Given the description of an element on the screen output the (x, y) to click on. 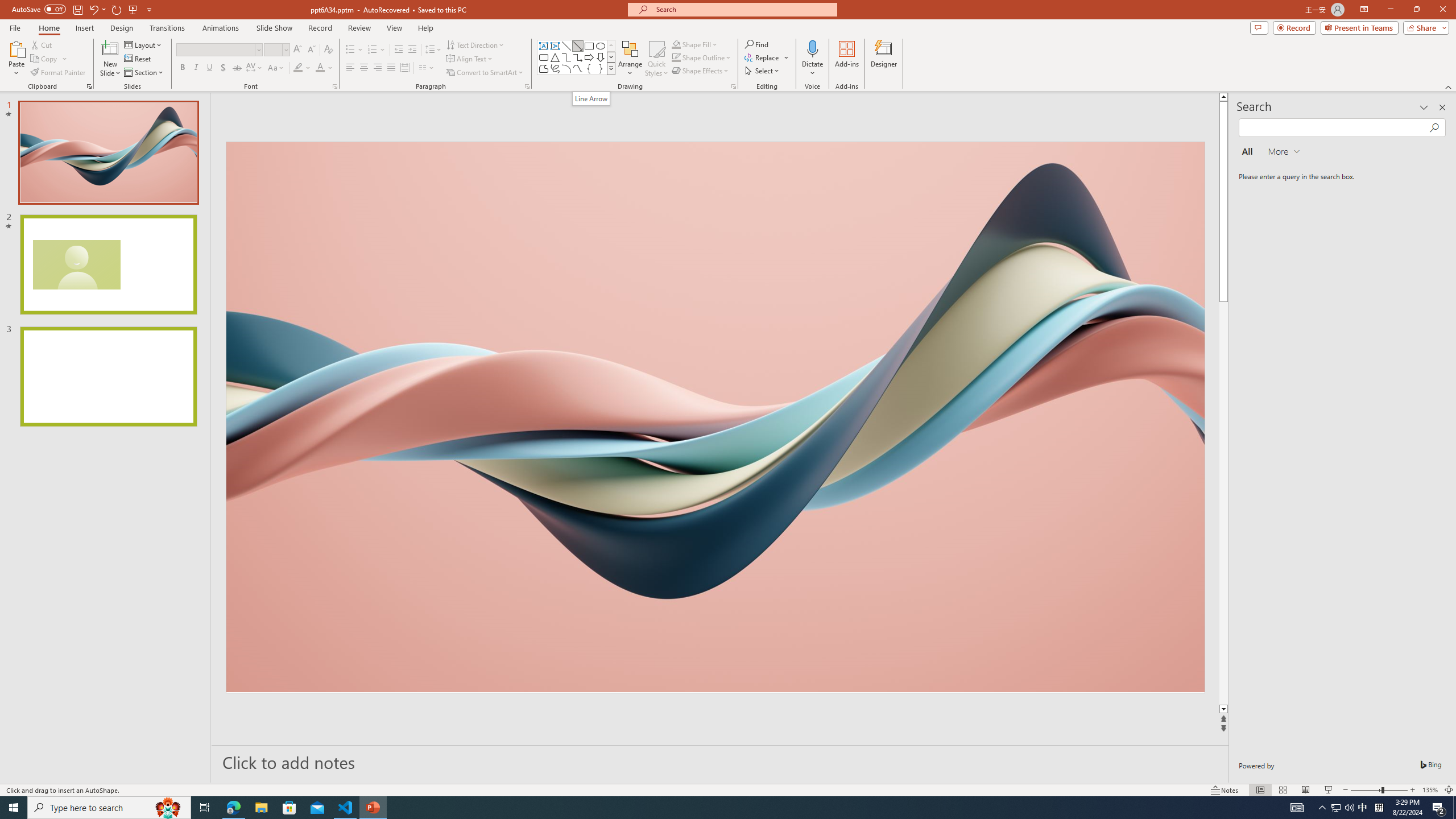
Font Color (320, 67)
Center (363, 67)
Reset (138, 58)
Bullets (349, 49)
Underline (209, 67)
Section (144, 72)
Strikethrough (237, 67)
Text Direction (476, 44)
Format Object... (733, 85)
Shape Outline (675, 56)
Arrange (630, 58)
